Given the description of an element on the screen output the (x, y) to click on. 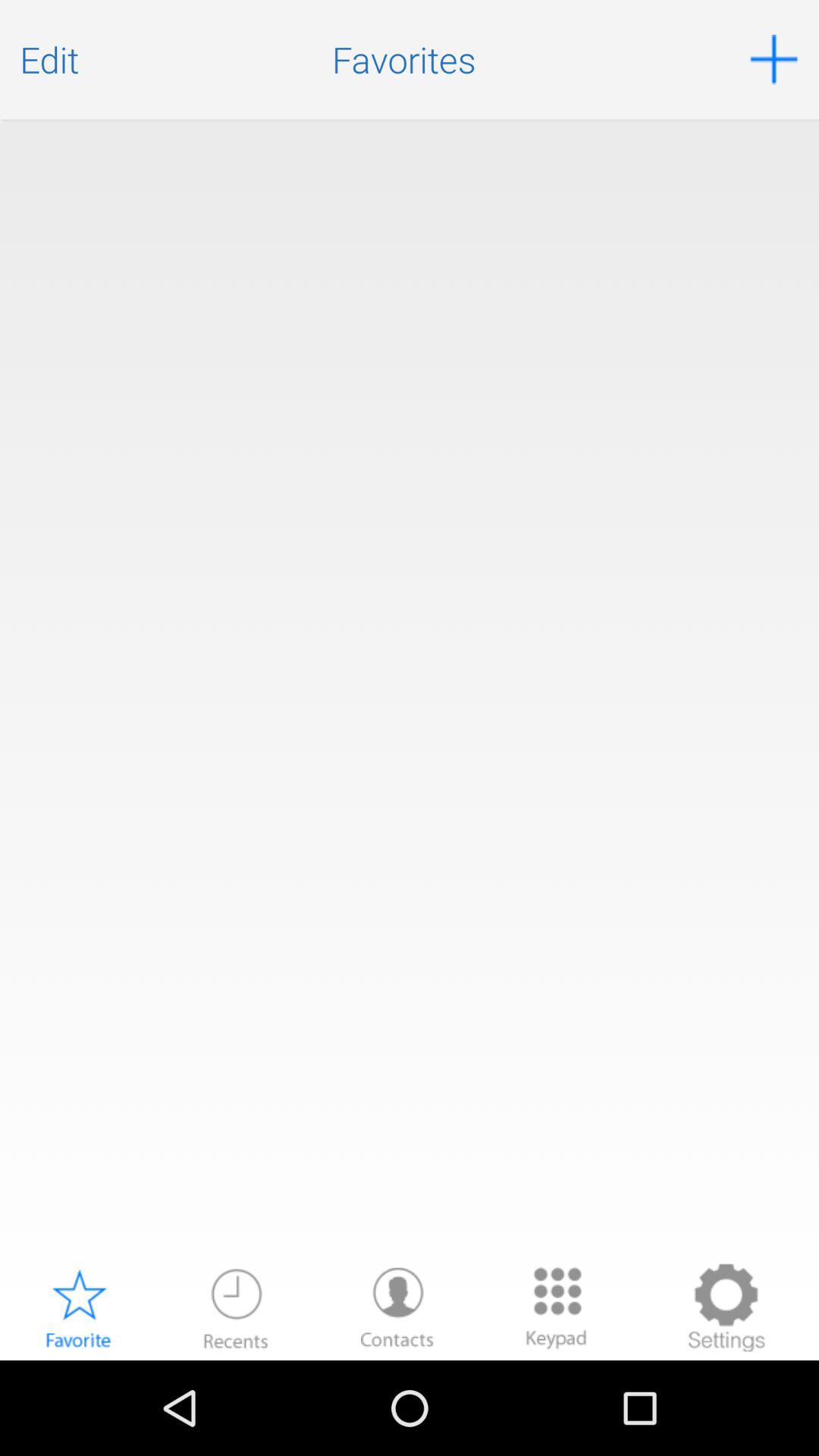
contacts (397, 1307)
